Given the description of an element on the screen output the (x, y) to click on. 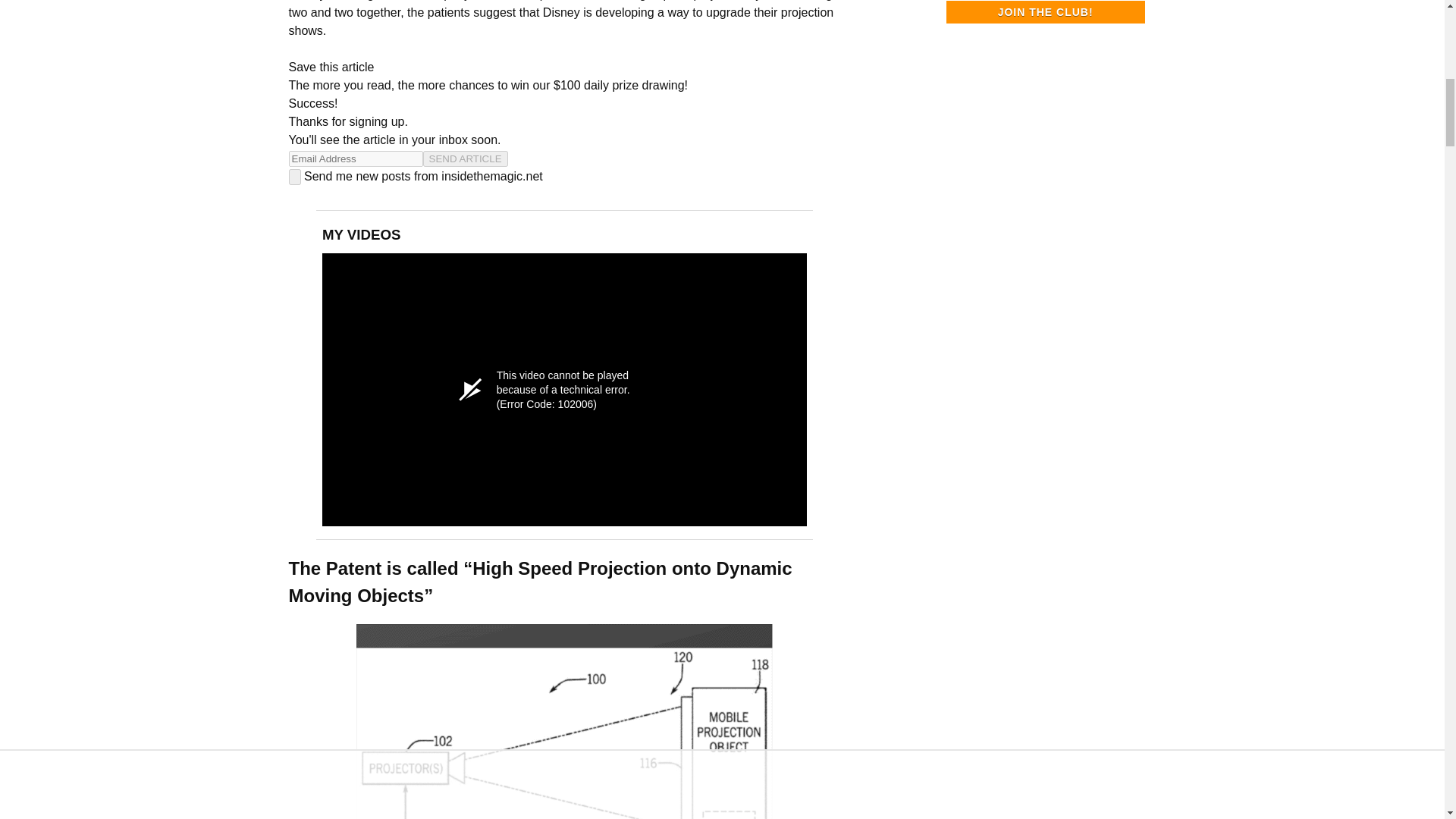
Join The Club! (1045, 11)
